Given the description of an element on the screen output the (x, y) to click on. 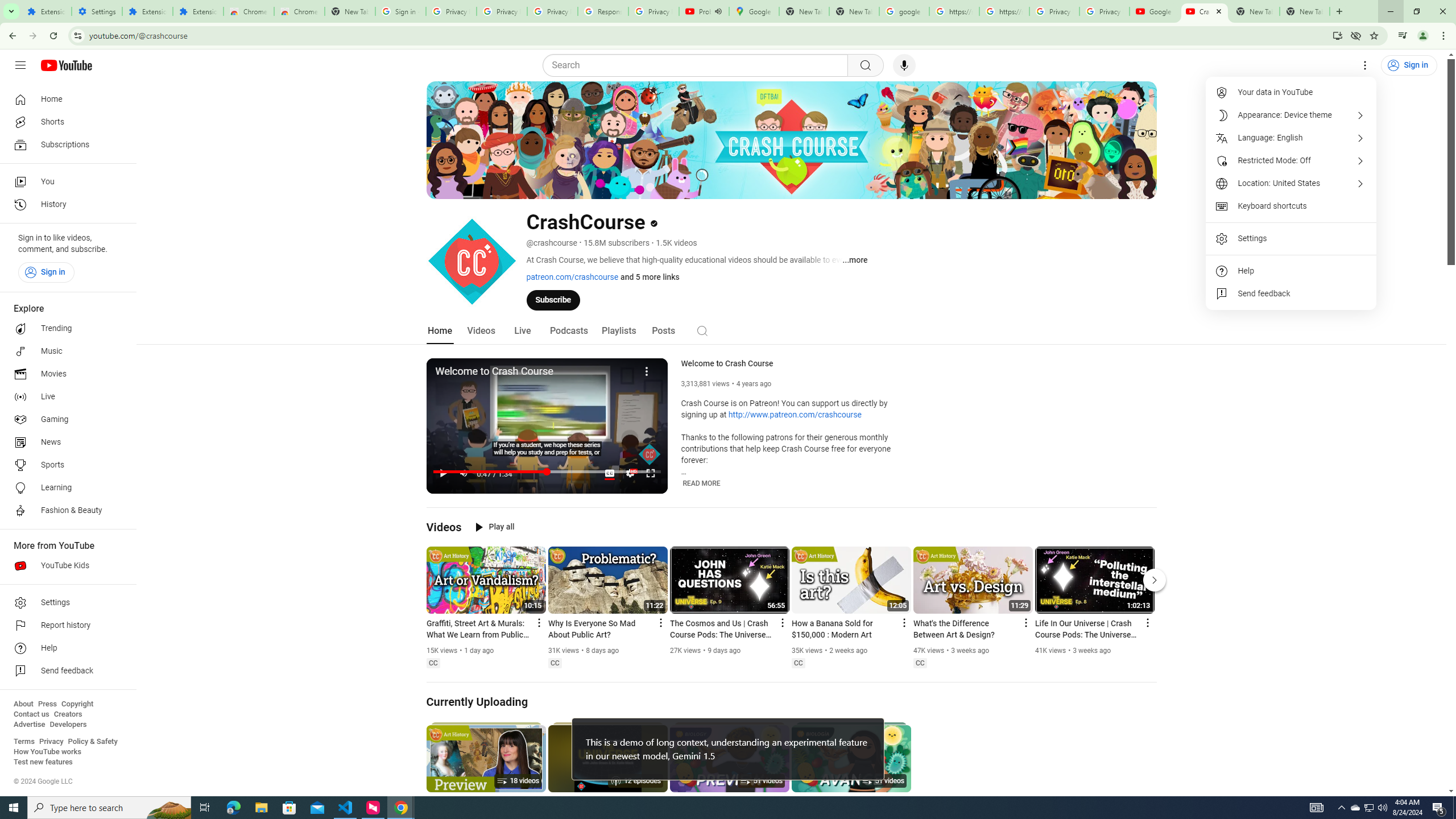
http://www.patreon.com/crashcourse (794, 414)
